Given the description of an element on the screen output the (x, y) to click on. 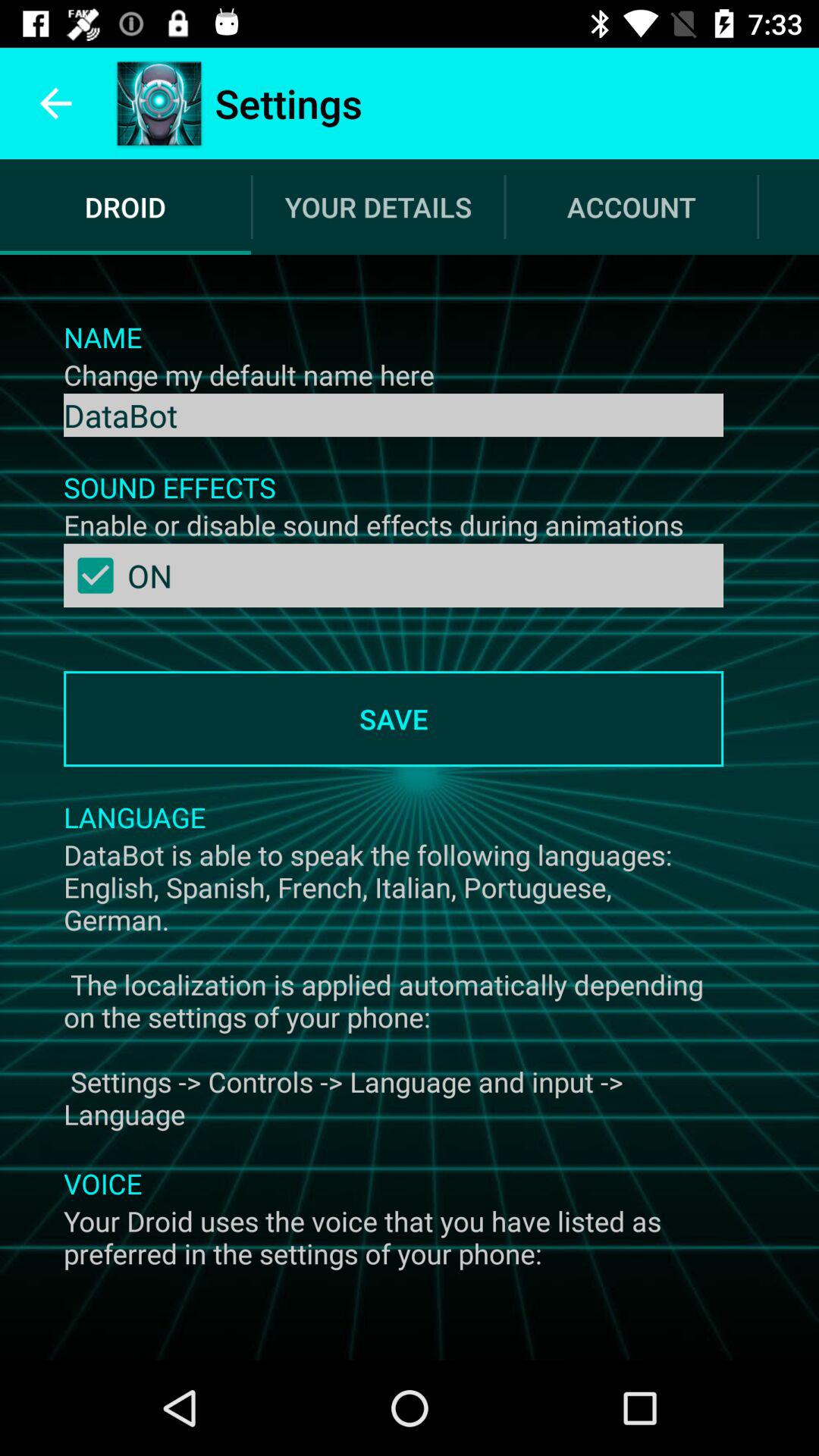
launch icon above the language (393, 718)
